Given the description of an element on the screen output the (x, y) to click on. 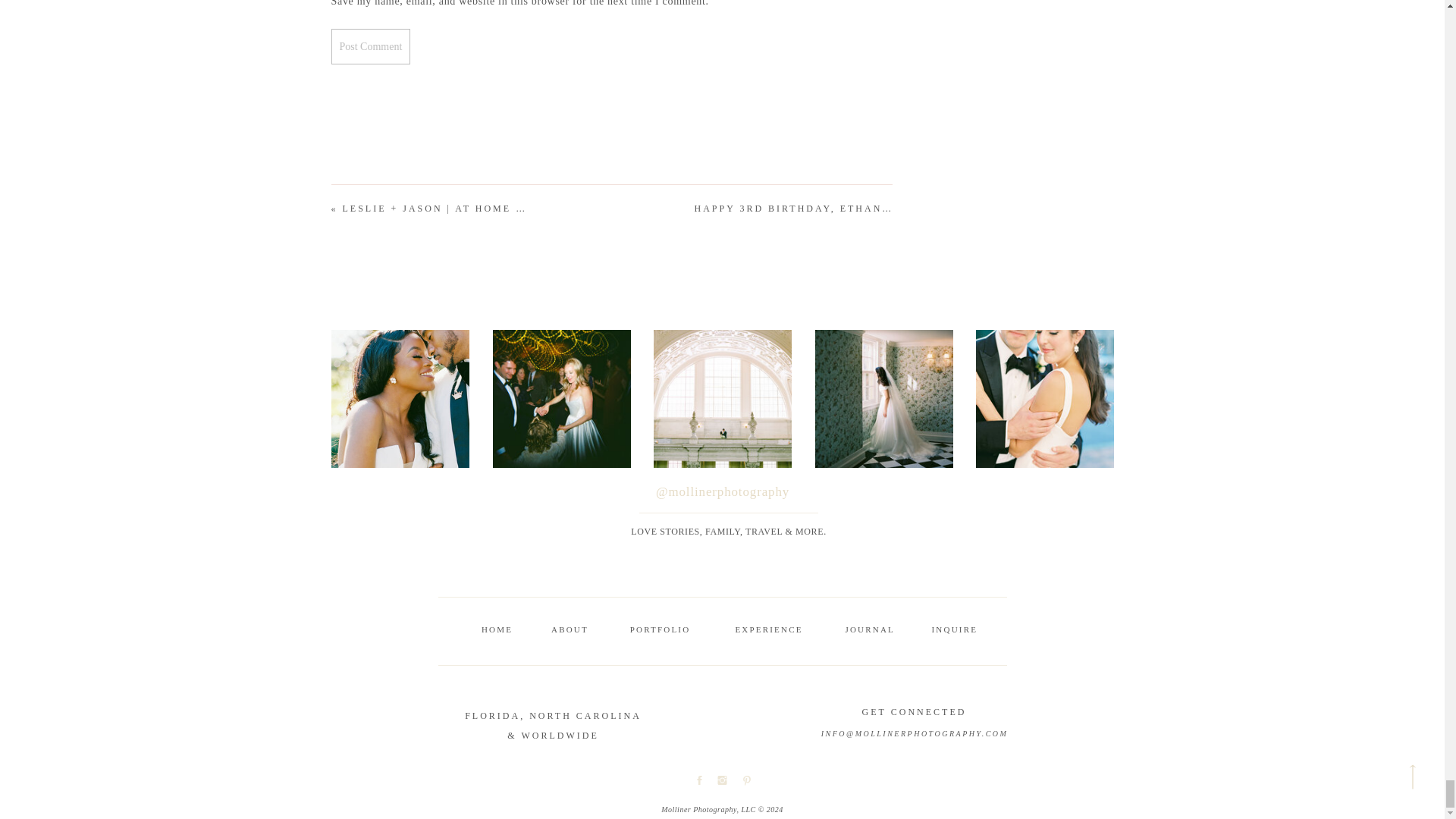
Post Comment (370, 46)
arrow (1412, 776)
